Given the description of an element on the screen output the (x, y) to click on. 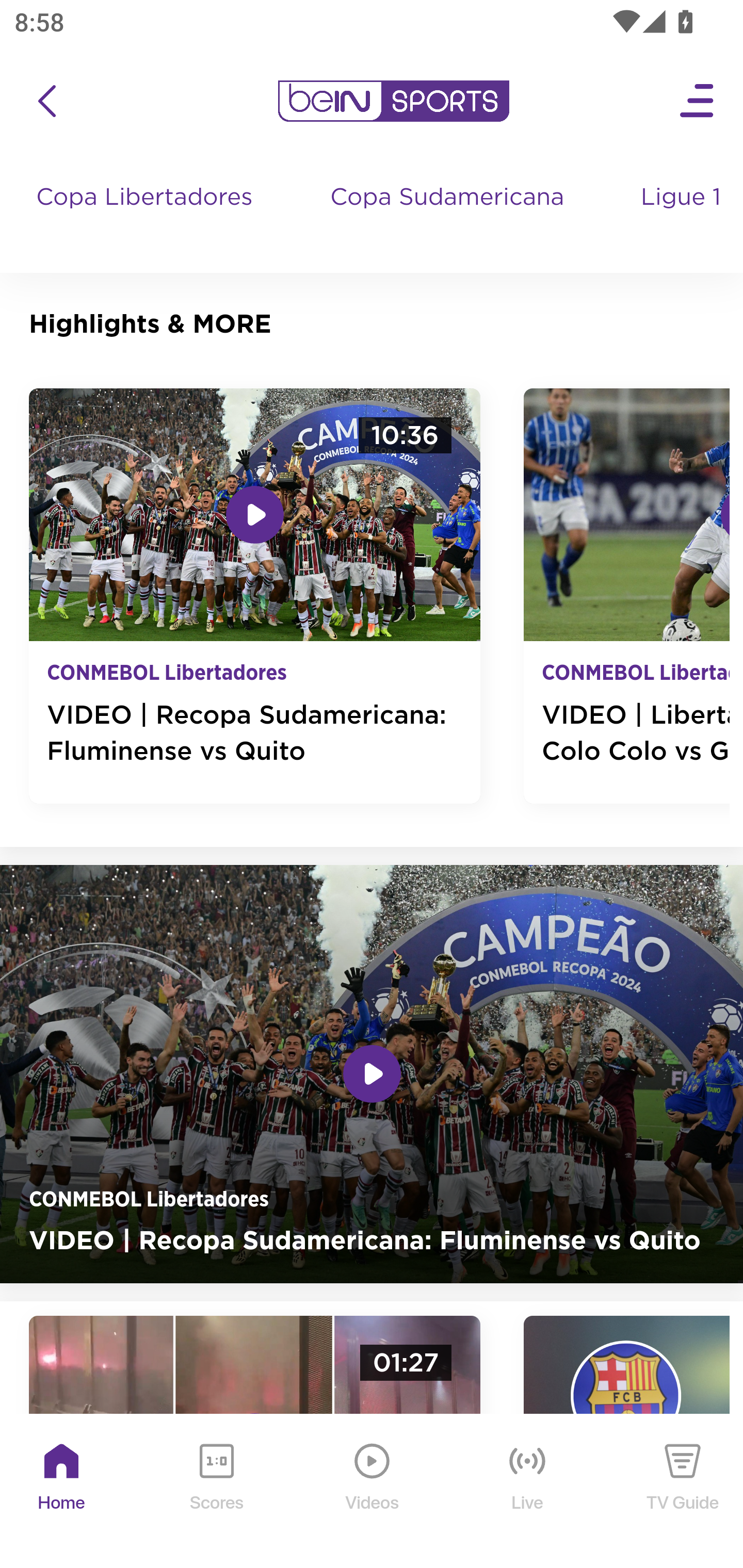
en-us?platform=mobile_android bein logo (392, 101)
icon back (46, 101)
Open Menu Icon (697, 101)
Copa Libertadores (146, 216)
Copa Sudamericana (448, 216)
Ligue 1 (682, 216)
Home Home Icon Home (61, 1491)
Scores Scores Icon Scores (216, 1491)
Videos Videos Icon Videos (372, 1491)
TV Guide TV Guide Icon TV Guide (682, 1491)
